Given the description of an element on the screen output the (x, y) to click on. 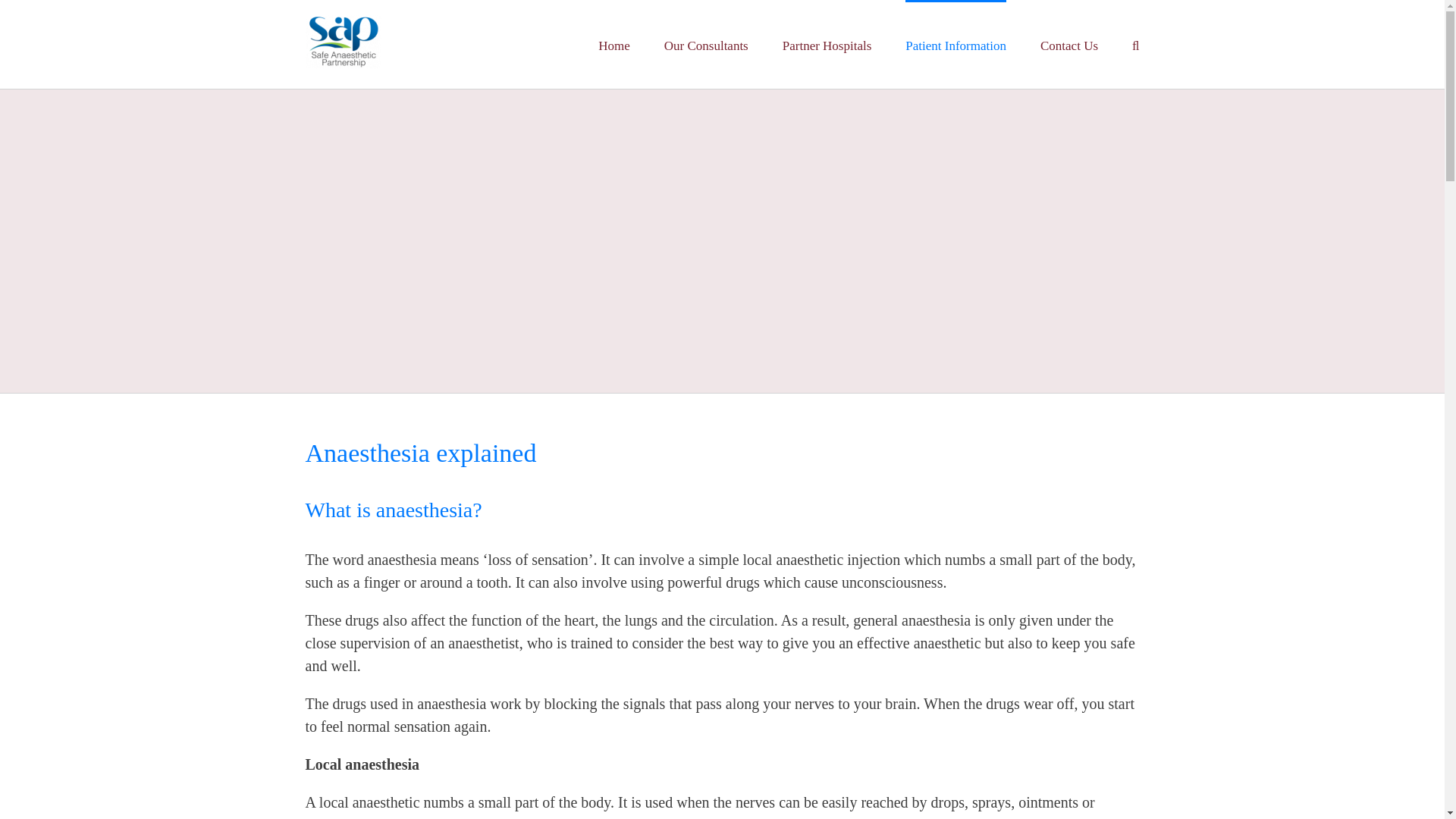
Our Consultants (705, 44)
Partner Hospitals (827, 44)
Contact Us (1069, 44)
Patient Information (955, 44)
Home (614, 44)
